Given the description of an element on the screen output the (x, y) to click on. 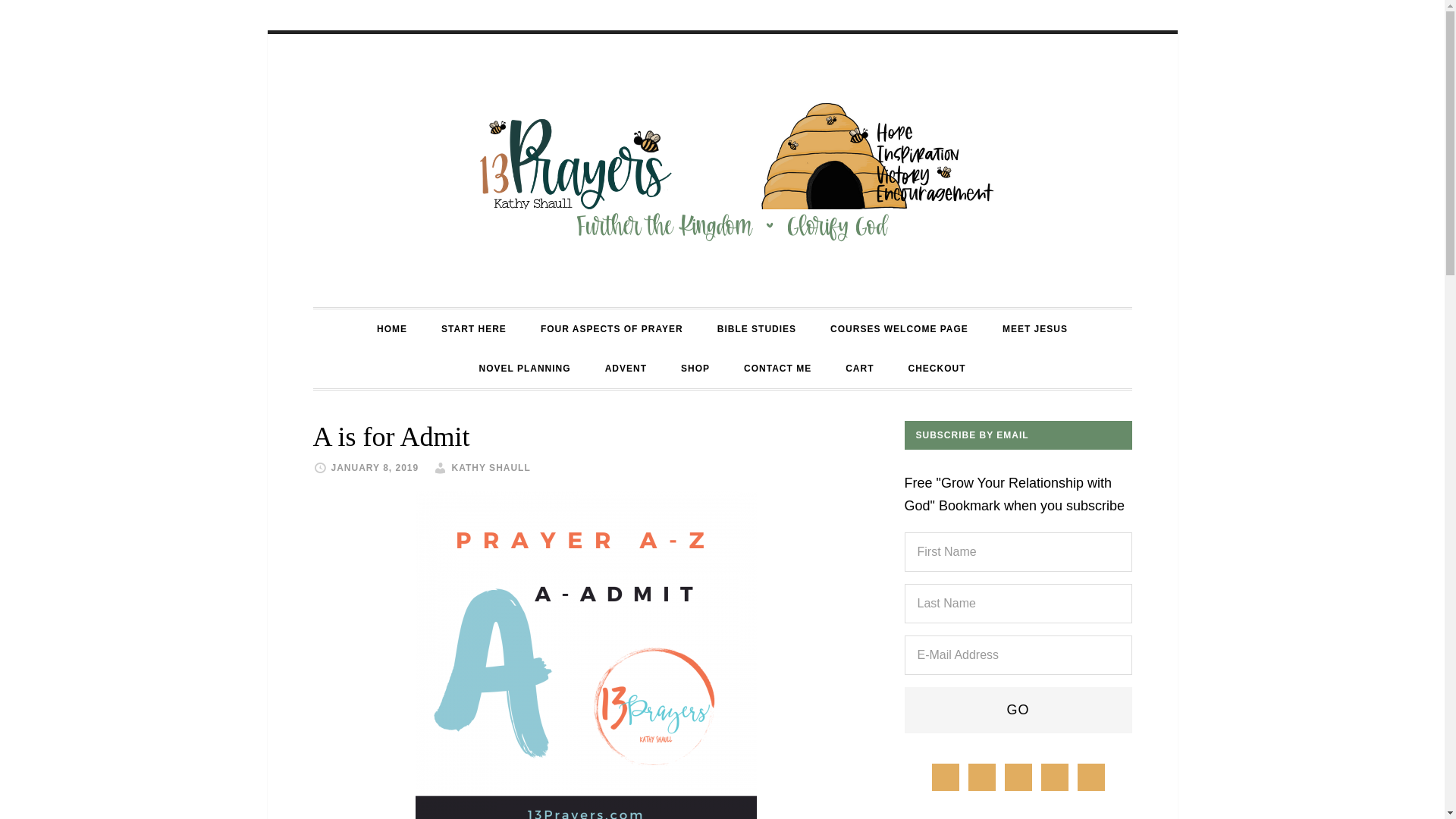
SHOP (695, 368)
13 PRAYERS (722, 170)
KATHY SHAULL (491, 467)
ADVENT (625, 368)
Go (1017, 710)
Go (1017, 710)
START HERE (473, 328)
CONTACT ME (778, 368)
CART (858, 368)
MEET JESUS (1035, 328)
FOUR ASPECTS OF PRAYER (611, 328)
BIBLE STUDIES (755, 328)
HOME (391, 328)
NOVEL PLANNING (525, 368)
CHECKOUT (937, 368)
